Given the description of an element on the screen output the (x, y) to click on. 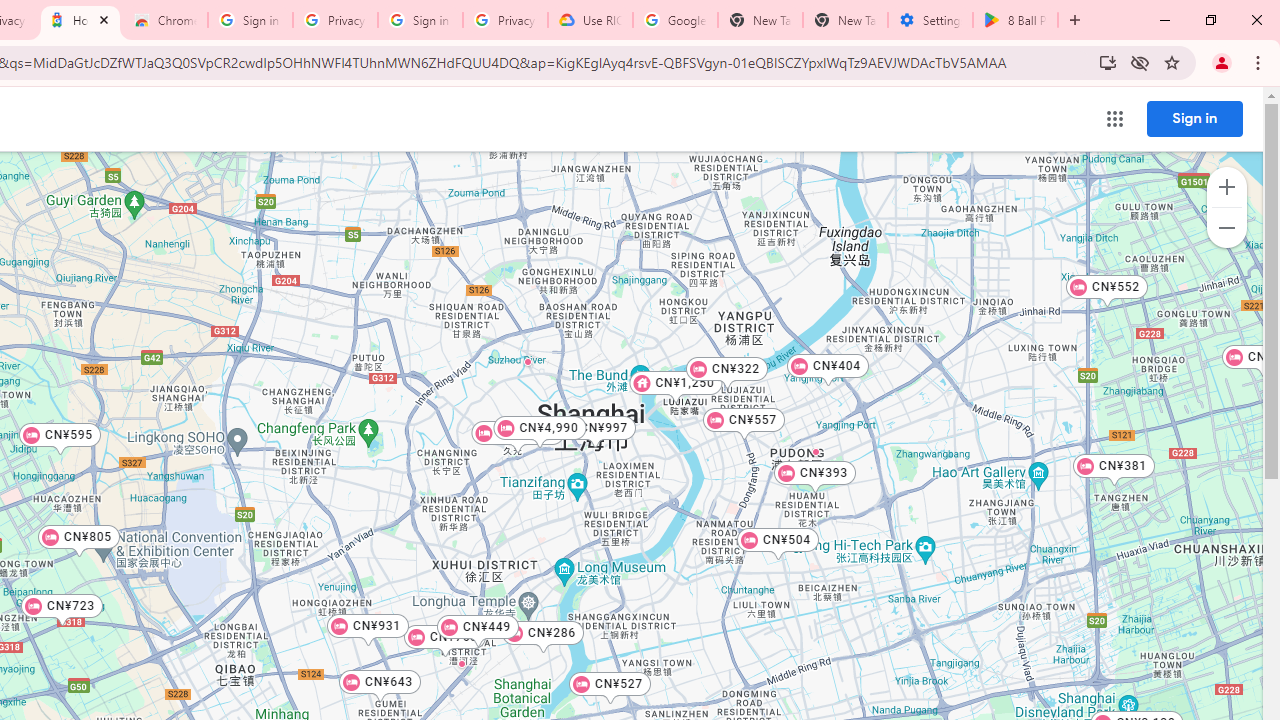
Parkline Century Park Hotel Shanghai (815, 451)
Junting Hotel (460, 663)
8 Ball Pool - Apps on Google Play (1015, 20)
Z Hotel (612, 421)
Zoom in map (1226, 187)
Install Trips all in one place (1107, 62)
